Given the description of an element on the screen output the (x, y) to click on. 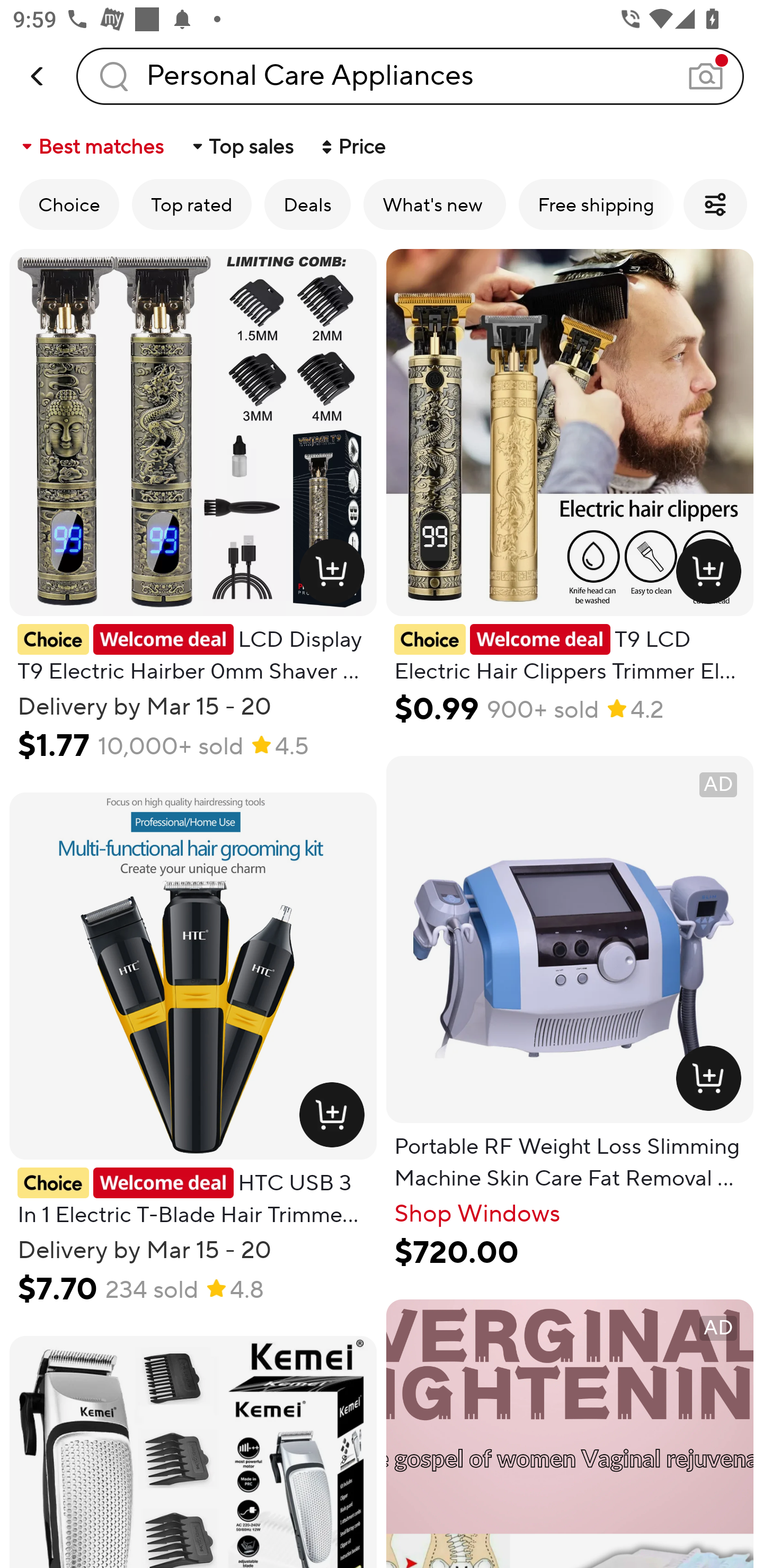
back (38, 75)
Personal Care Appliances Search query (409, 76)
Personal Care Appliances Search query (409, 76)
Best matches (91, 146)
Top sales (241, 146)
Price (352, 146)
Choice (69, 204)
Top rated (191, 204)
Deals (307, 204)
What's new  (434, 204)
Free shipping (595, 204)
